Given the description of an element on the screen output the (x, y) to click on. 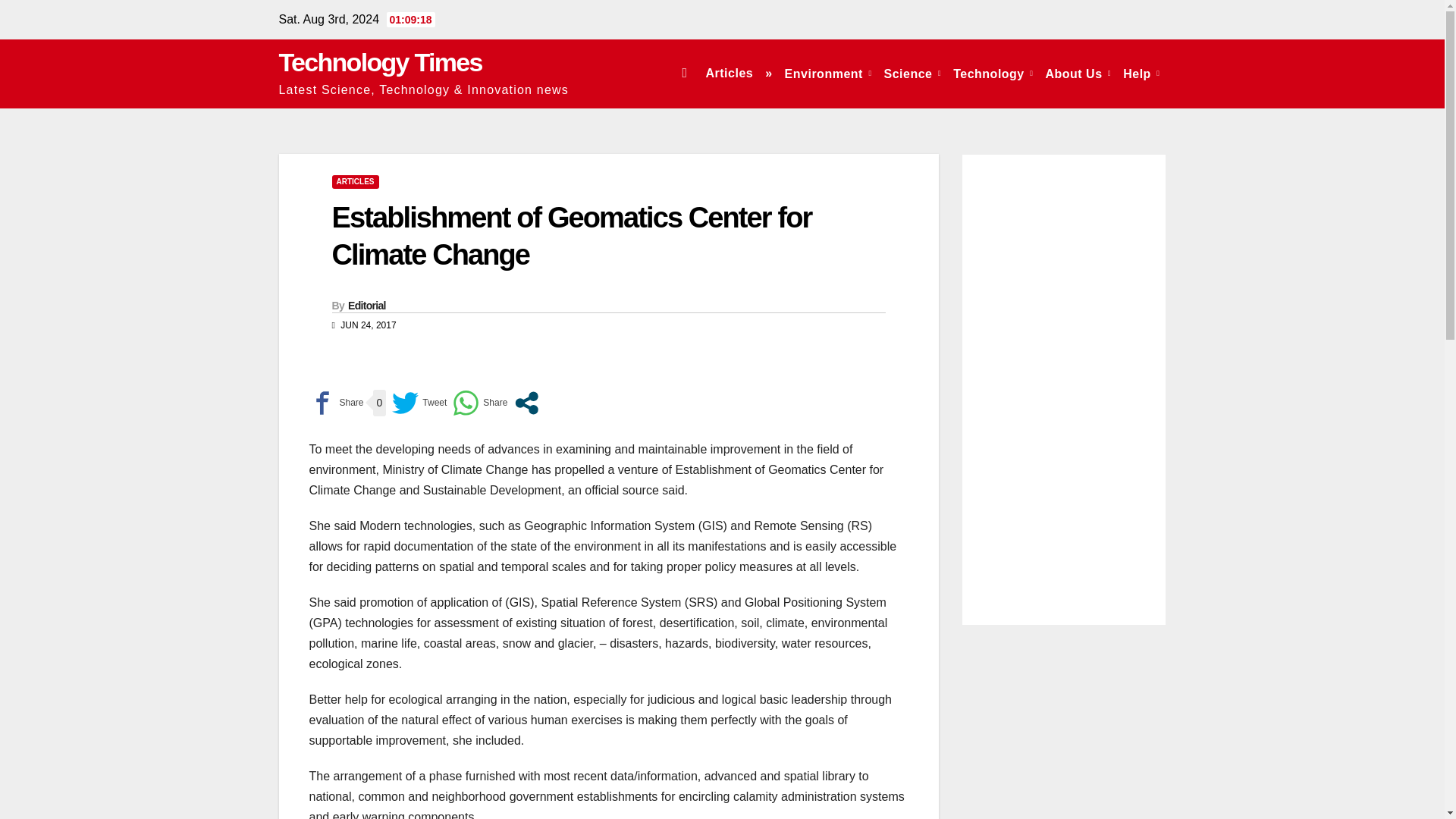
Environment (827, 73)
Technology Times (380, 61)
Science (912, 73)
Science (912, 73)
About Us (1077, 73)
Technology (993, 73)
Technology (993, 73)
Environment (827, 73)
